Given the description of an element on the screen output the (x, y) to click on. 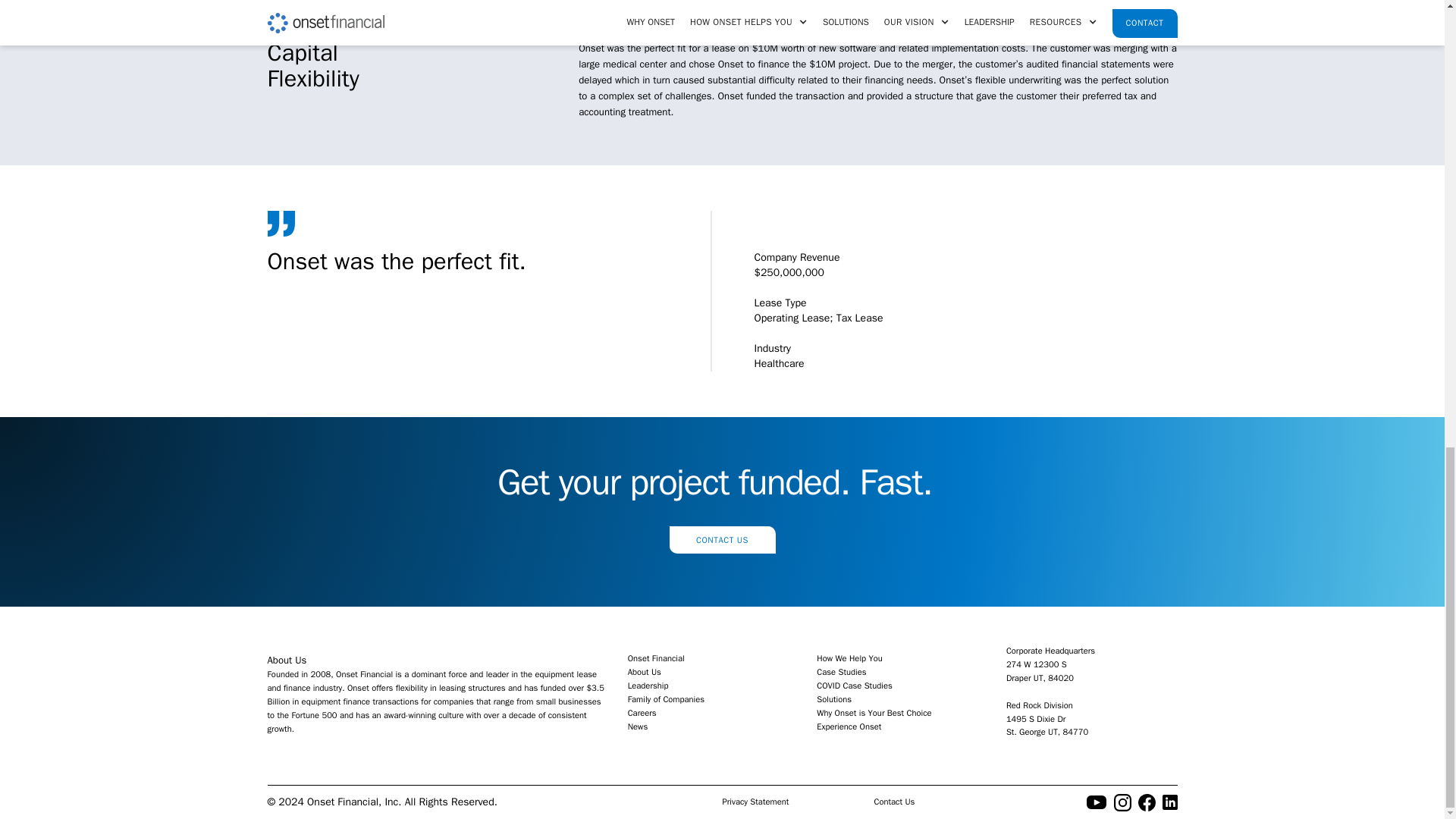
Privacy Statement (797, 802)
Contact Us (949, 802)
Experience Onset (902, 726)
News (713, 726)
Family of Companies (713, 699)
Careers (713, 713)
About Us (713, 672)
COVID Case Studies (902, 685)
Why Onset is Your Best Choice (902, 713)
Case Studies (902, 672)
Solutions (902, 699)
Leadership (713, 685)
CONTACT US (721, 539)
